Given the description of an element on the screen output the (x, y) to click on. 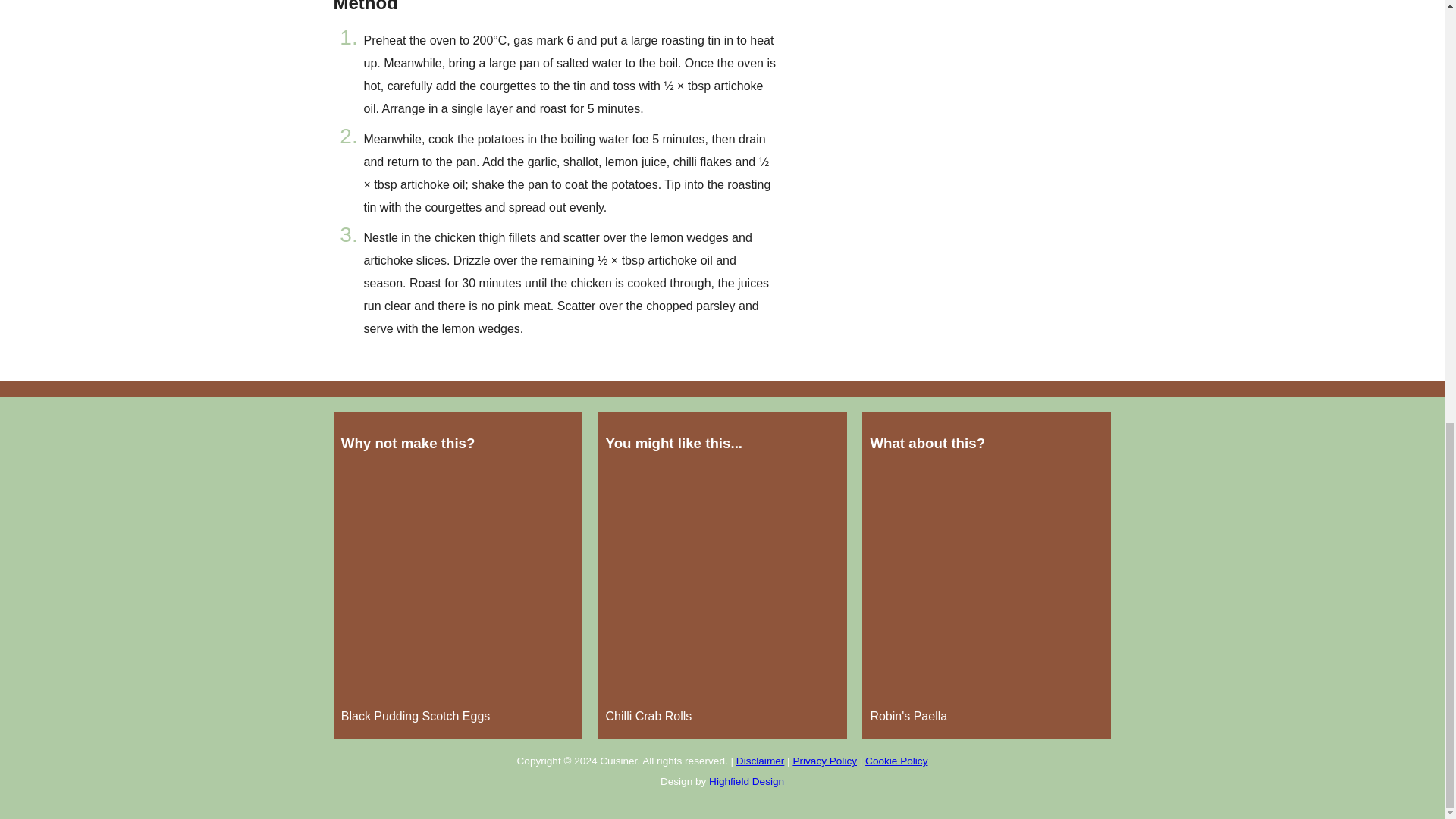
Privacy Policy (824, 760)
Cookie Policy (895, 760)
Disclaimer (760, 760)
Highfield Design (746, 781)
